Given the description of an element on the screen output the (x, y) to click on. 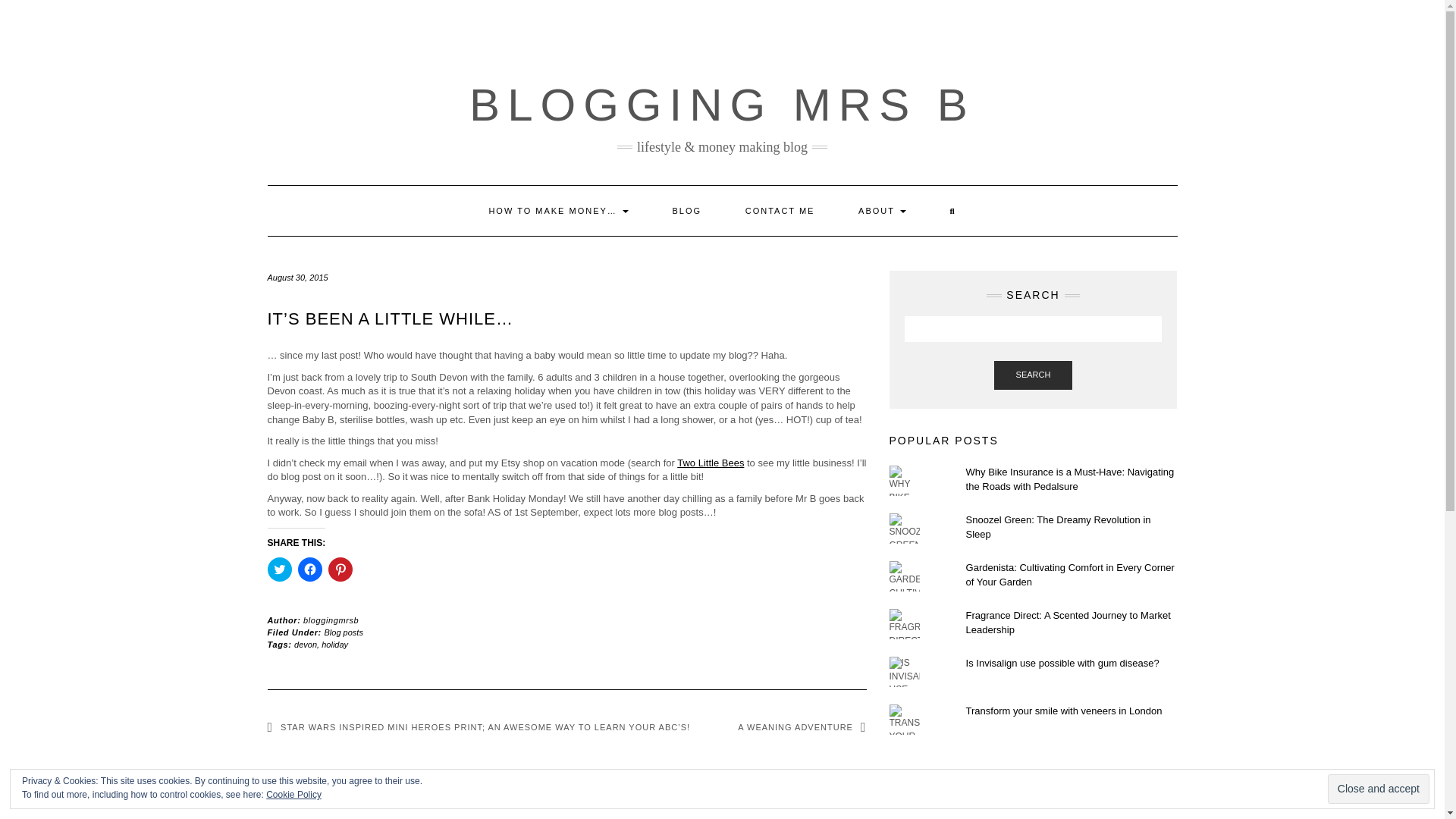
devon (305, 644)
BLOGGING MRS B (721, 104)
Transform your smile with veneers in London (1063, 710)
Click to share on Pinterest (339, 569)
bloggingmrsb (330, 619)
Snoozel Green: The Dreamy Revolution in Sleep (1058, 526)
Is Invisalign use possible with gum disease? (1062, 663)
Click to share on Twitter (278, 569)
ABOUT (882, 210)
SEARCH (1033, 375)
Close and accept (1378, 788)
Click to share on Facebook (309, 569)
